Given the description of an element on the screen output the (x, y) to click on. 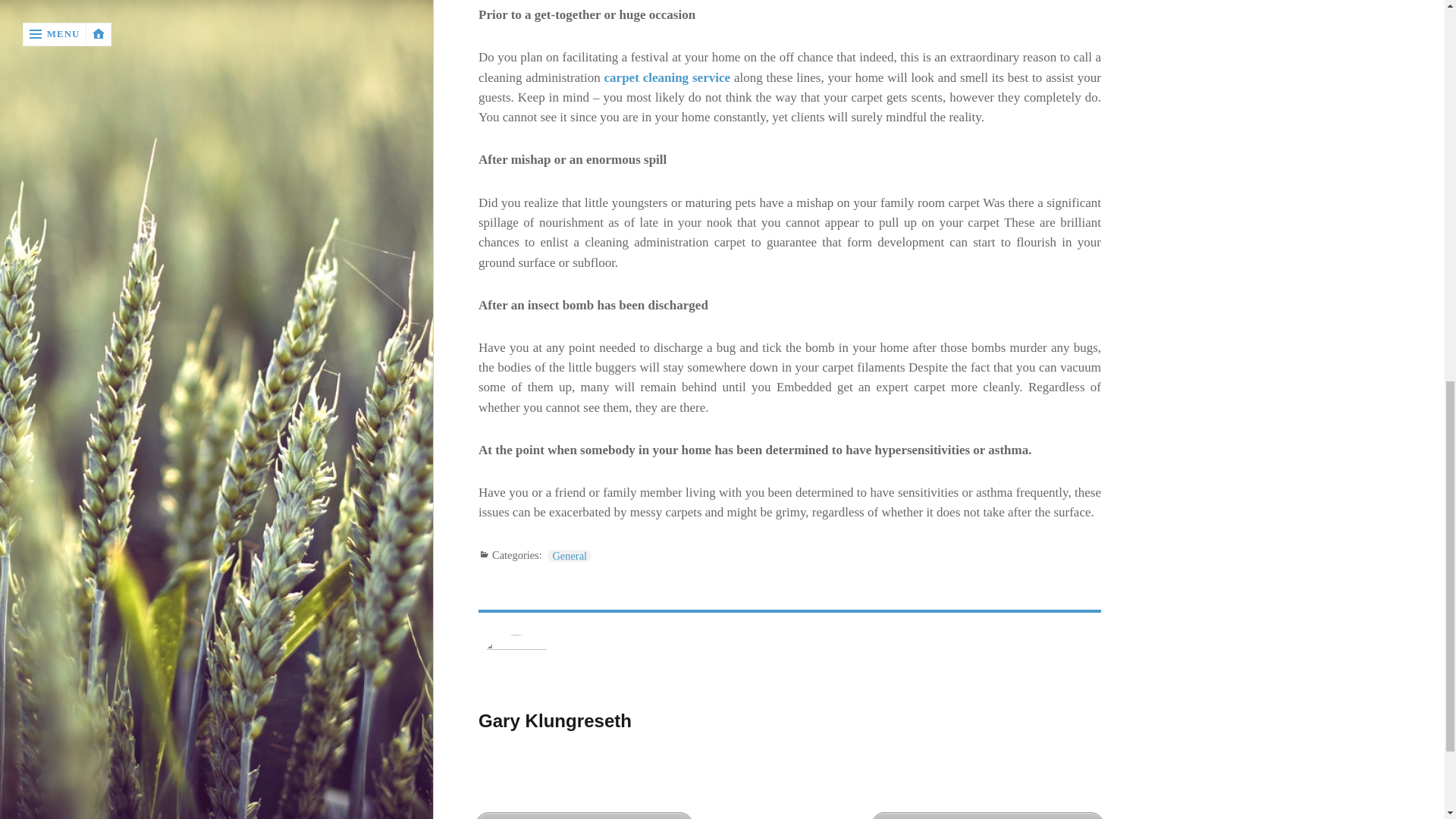
General (569, 555)
Why you are Throwing a Party at Your Place? (584, 815)
carpet cleaning service (667, 77)
Singapore House Interior Design Styles and Ideas (986, 815)
